Given the description of an element on the screen output the (x, y) to click on. 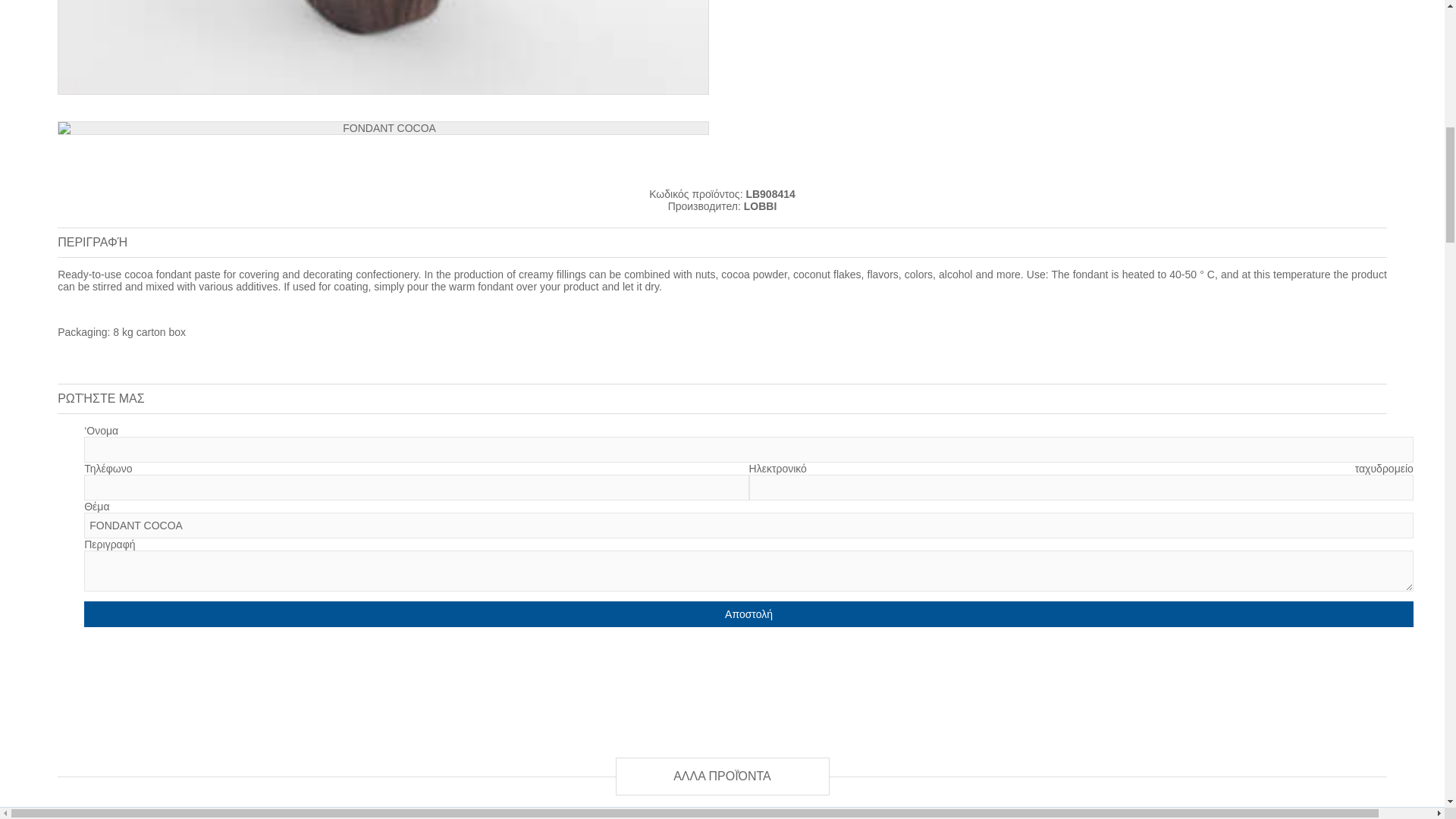
FONDANT COCOA (748, 525)
accept (722, 2)
